Given the description of an element on the screen output the (x, y) to click on. 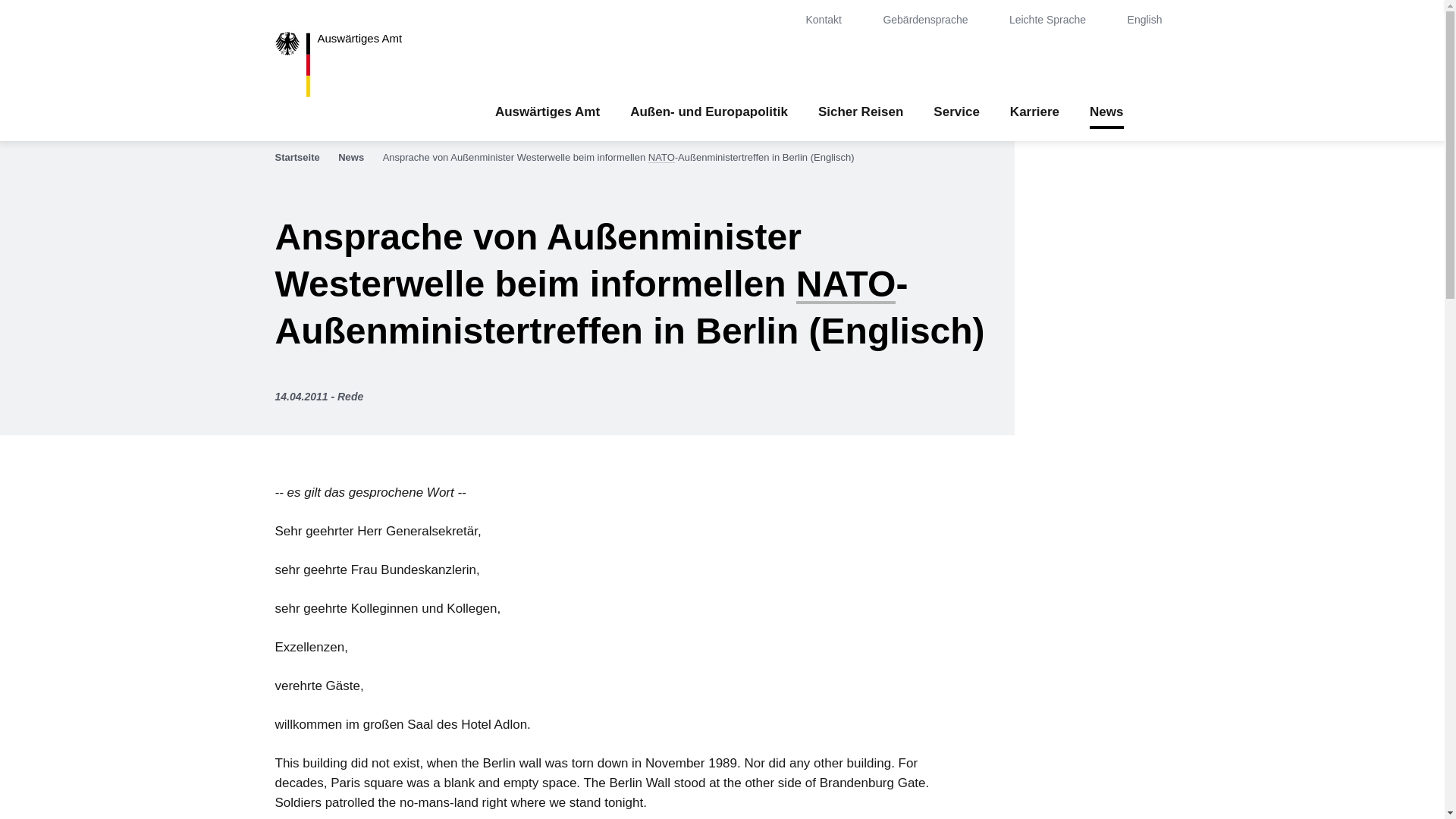
English (1148, 19)
Startseite (304, 157)
Kontakt (833, 20)
Kontakt (833, 20)
Leichte Sprache (1057, 20)
English (1148, 19)
Leichte Sprache (1057, 20)
